Given the description of an element on the screen output the (x, y) to click on. 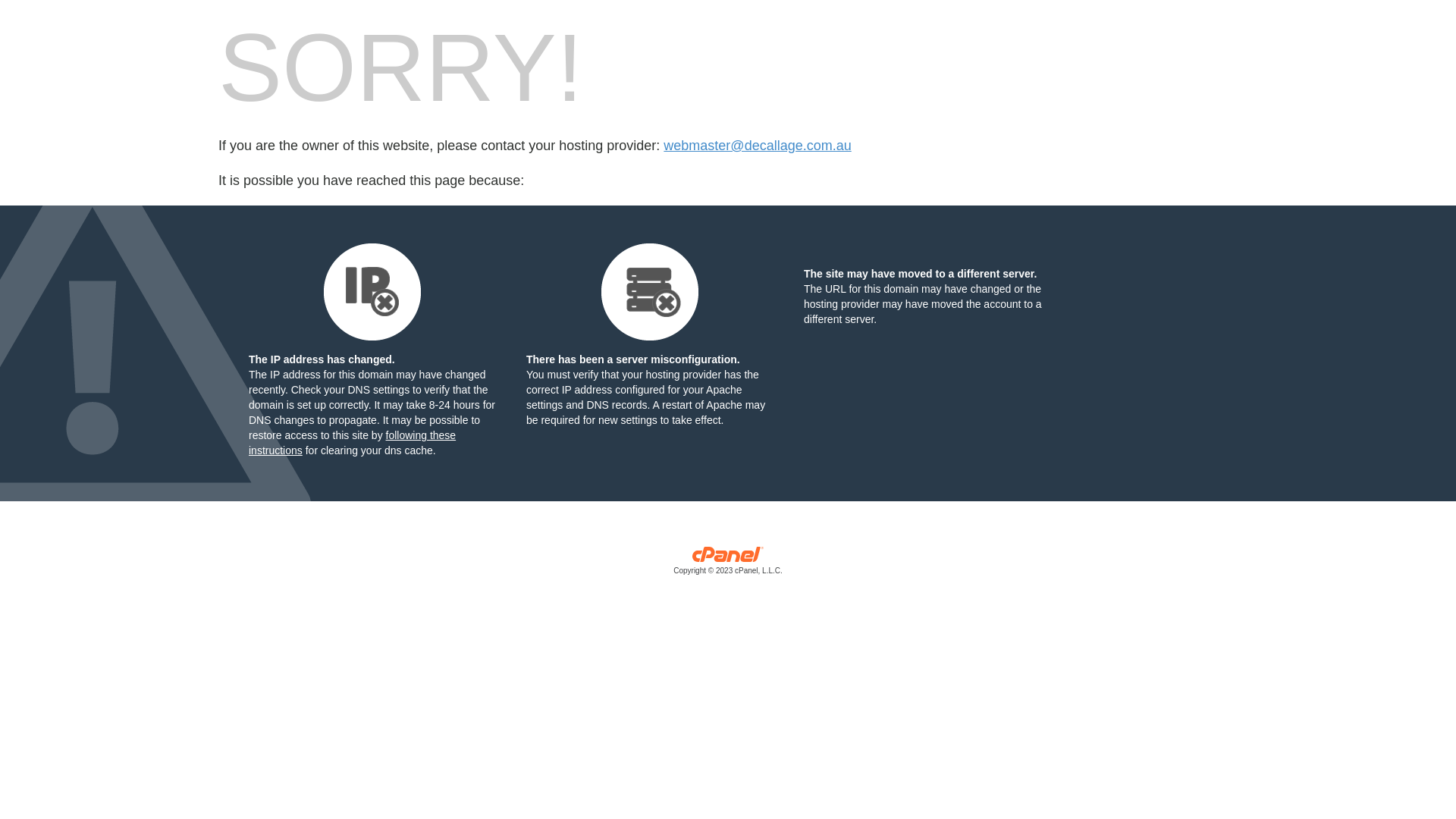
following these instructions Element type: text (351, 442)
webmaster@decallage.com.au Element type: text (756, 145)
